Given the description of an element on the screen output the (x, y) to click on. 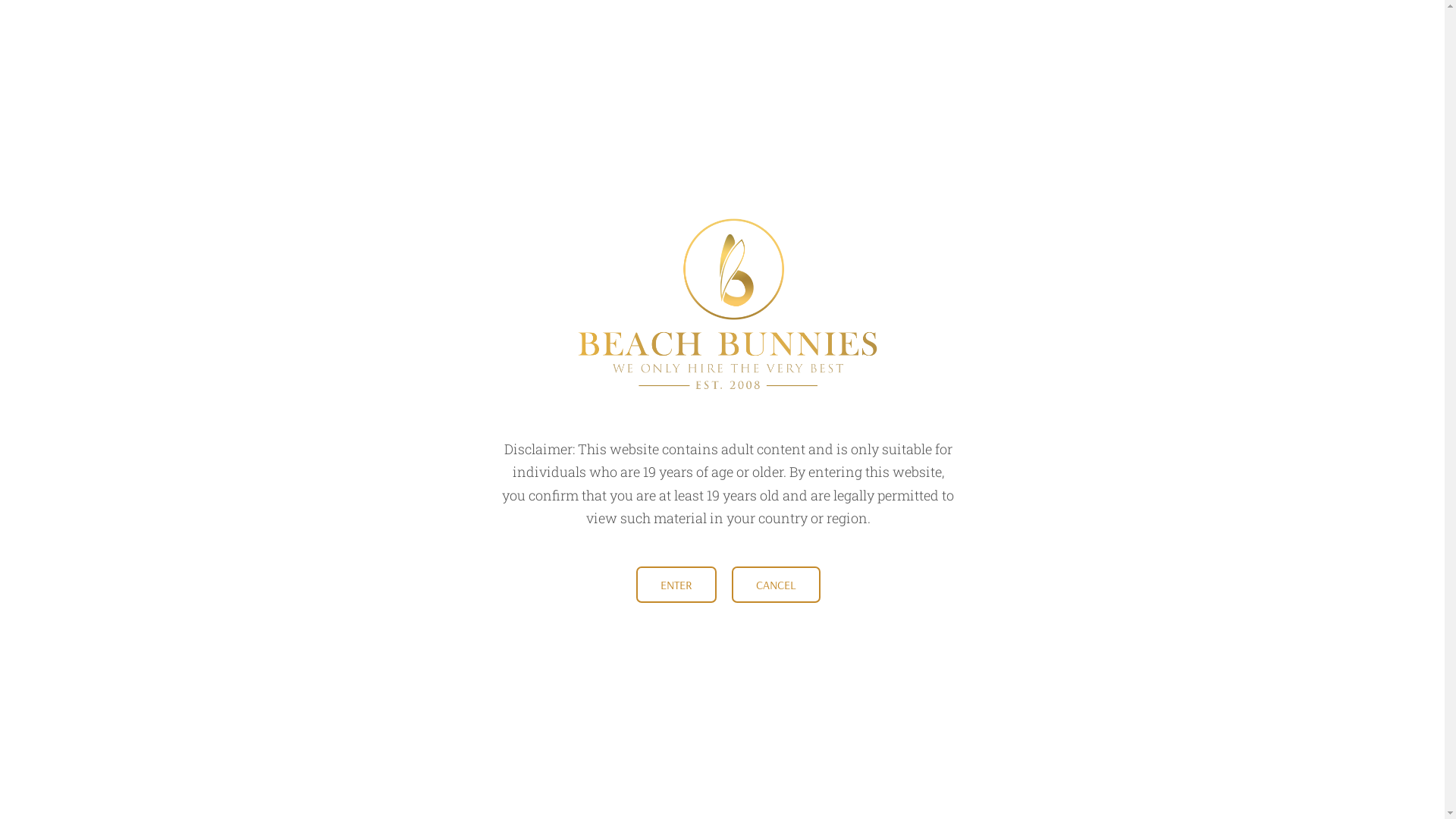
ENTER Element type: text (675, 584)
CALL Element type: text (1207, 28)
MENU Element type: text (248, 28)
CANCEL Element type: text (775, 584)
